Given the description of an element on the screen output the (x, y) to click on. 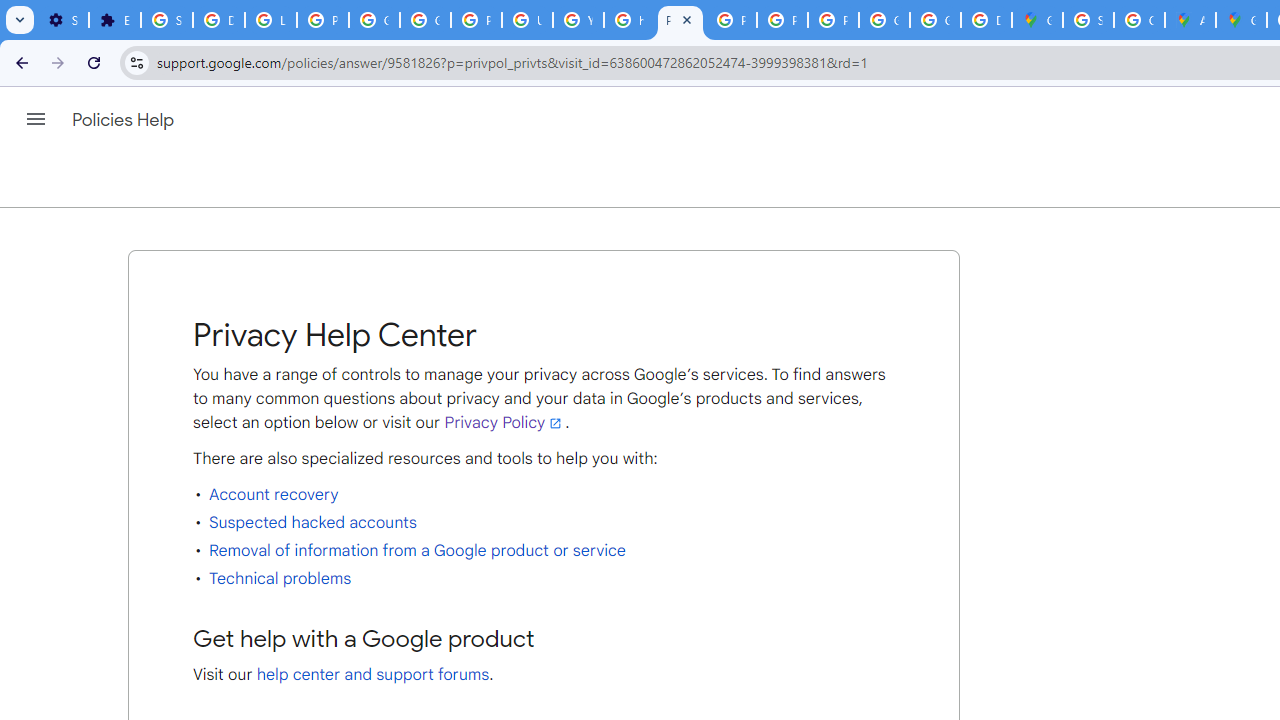
Delete photos & videos - Computer - Google Photos Help (218, 20)
Google Account Help (374, 20)
Settings - On startup (63, 20)
Policies Help (124, 119)
Sign in - Google Accounts (1087, 20)
Create your Google Account (1138, 20)
